Given the description of an element on the screen output the (x, y) to click on. 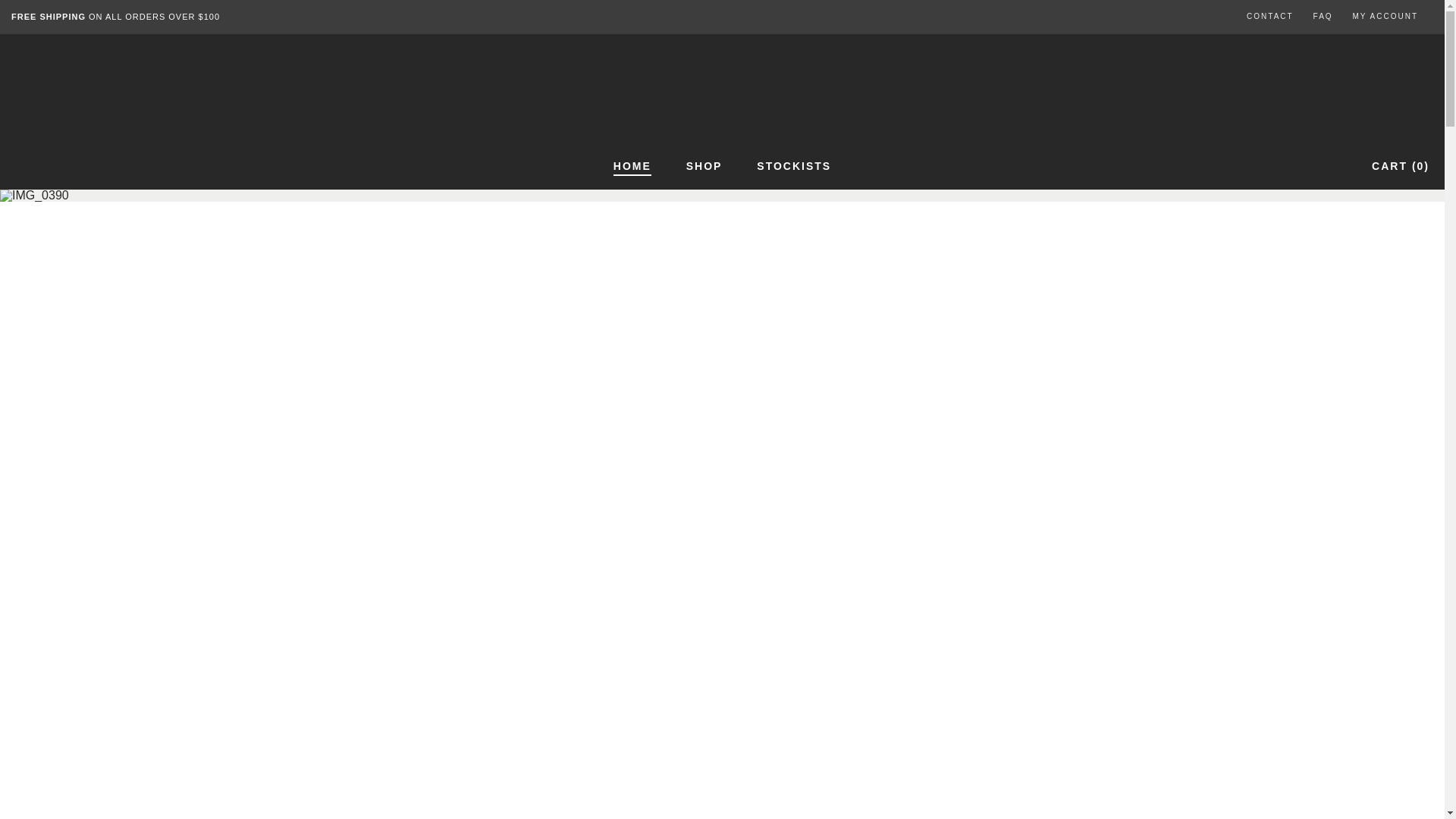
HOME Element type: text (632, 166)
CONTACT Element type: text (1269, 16)
MY ACCOUNT Element type: text (1385, 16)
SHOP Element type: text (704, 166)
FAQ Element type: text (1323, 16)
STOCKISTS Element type: text (793, 166)
CART (0) Element type: text (1400, 165)
